Given the description of an element on the screen output the (x, y) to click on. 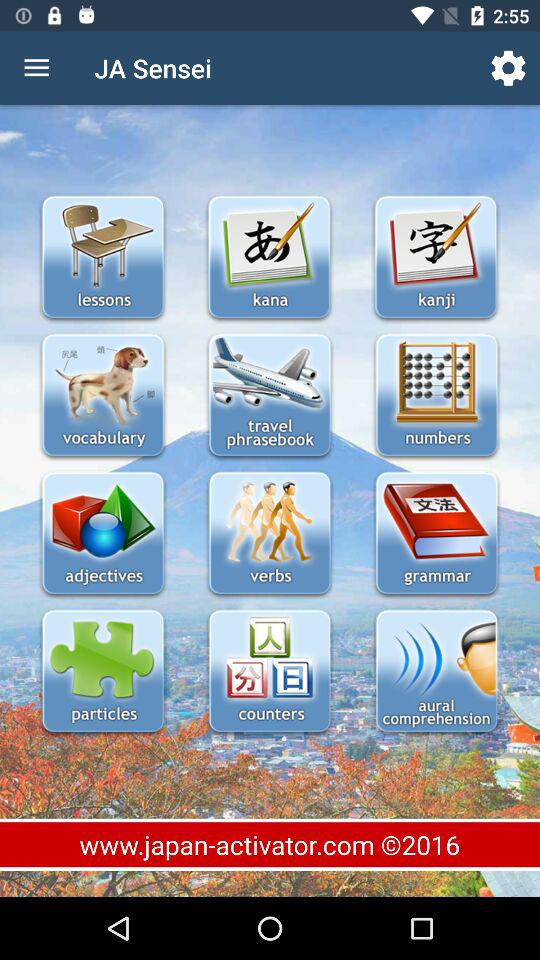
view lessons (102, 258)
